Given the description of an element on the screen output the (x, y) to click on. 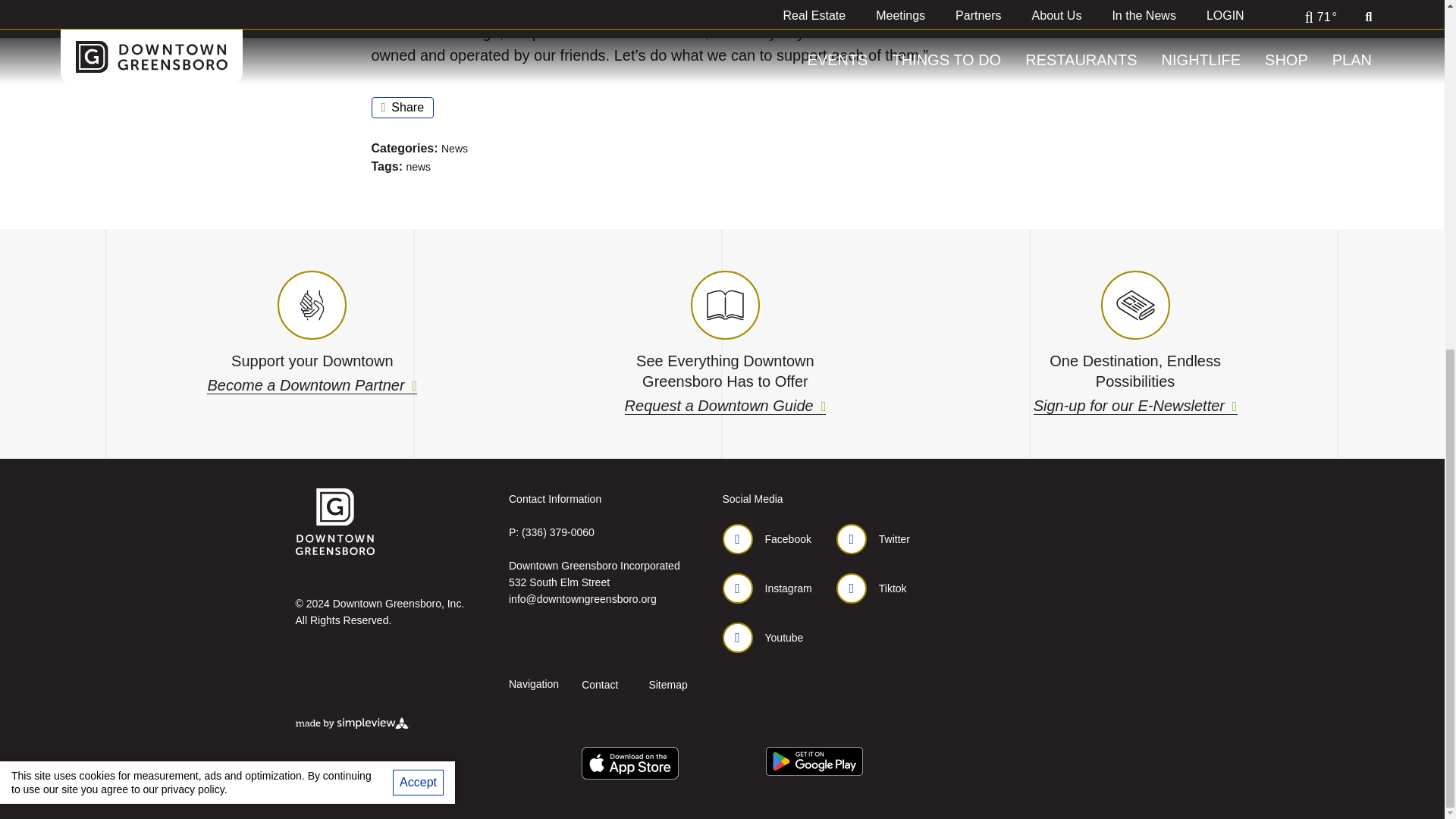
Visit our youtube page (762, 637)
Visit our twitter page (872, 539)
Visit our instagram page (766, 588)
Visit our tiktok page (871, 588)
Visit our facebook page (766, 539)
